Given the description of an element on the screen output the (x, y) to click on. 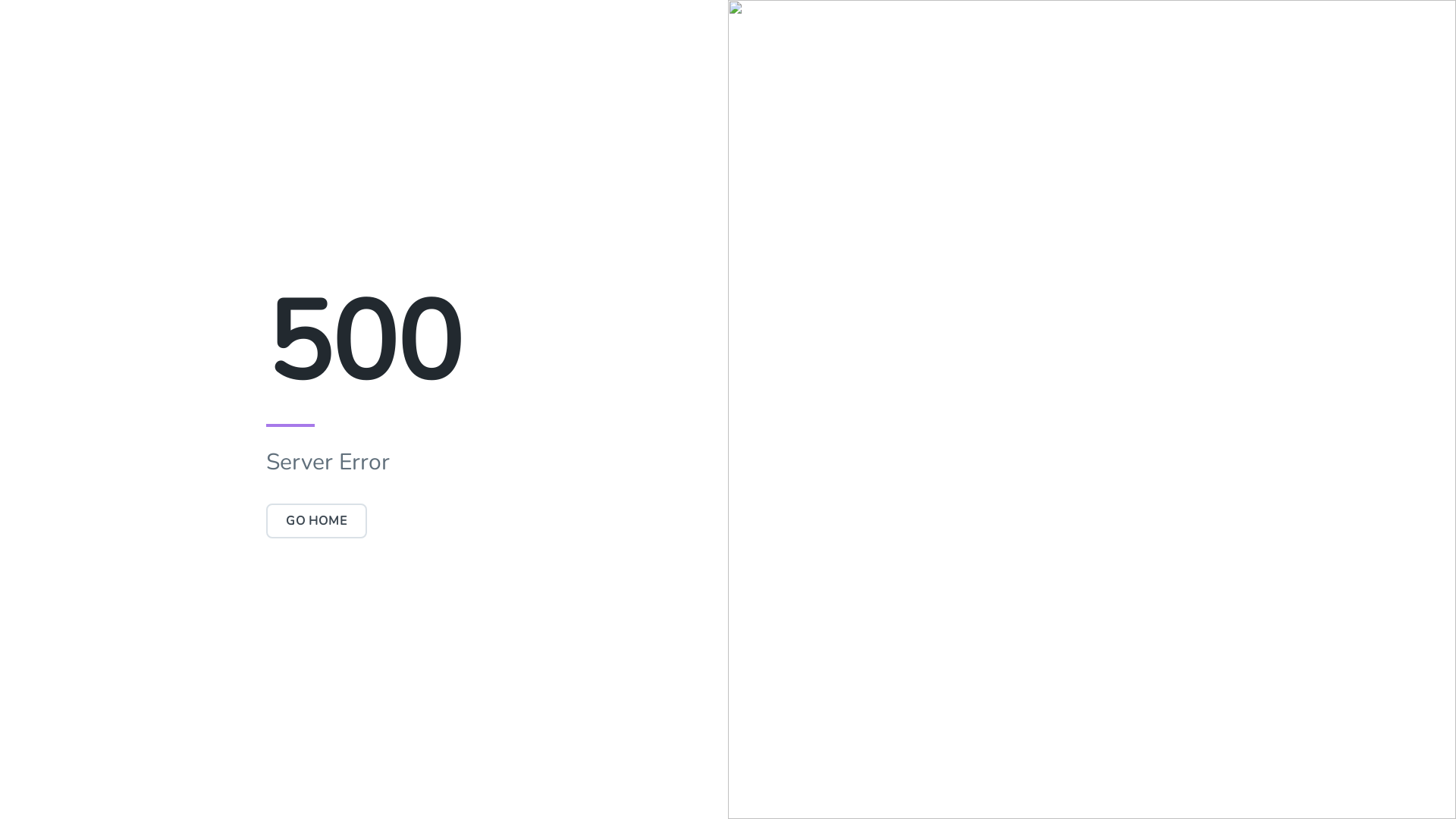
GO HOME Element type: text (316, 520)
GO HOME Element type: text (316, 520)
